Given the description of an element on the screen output the (x, y) to click on. 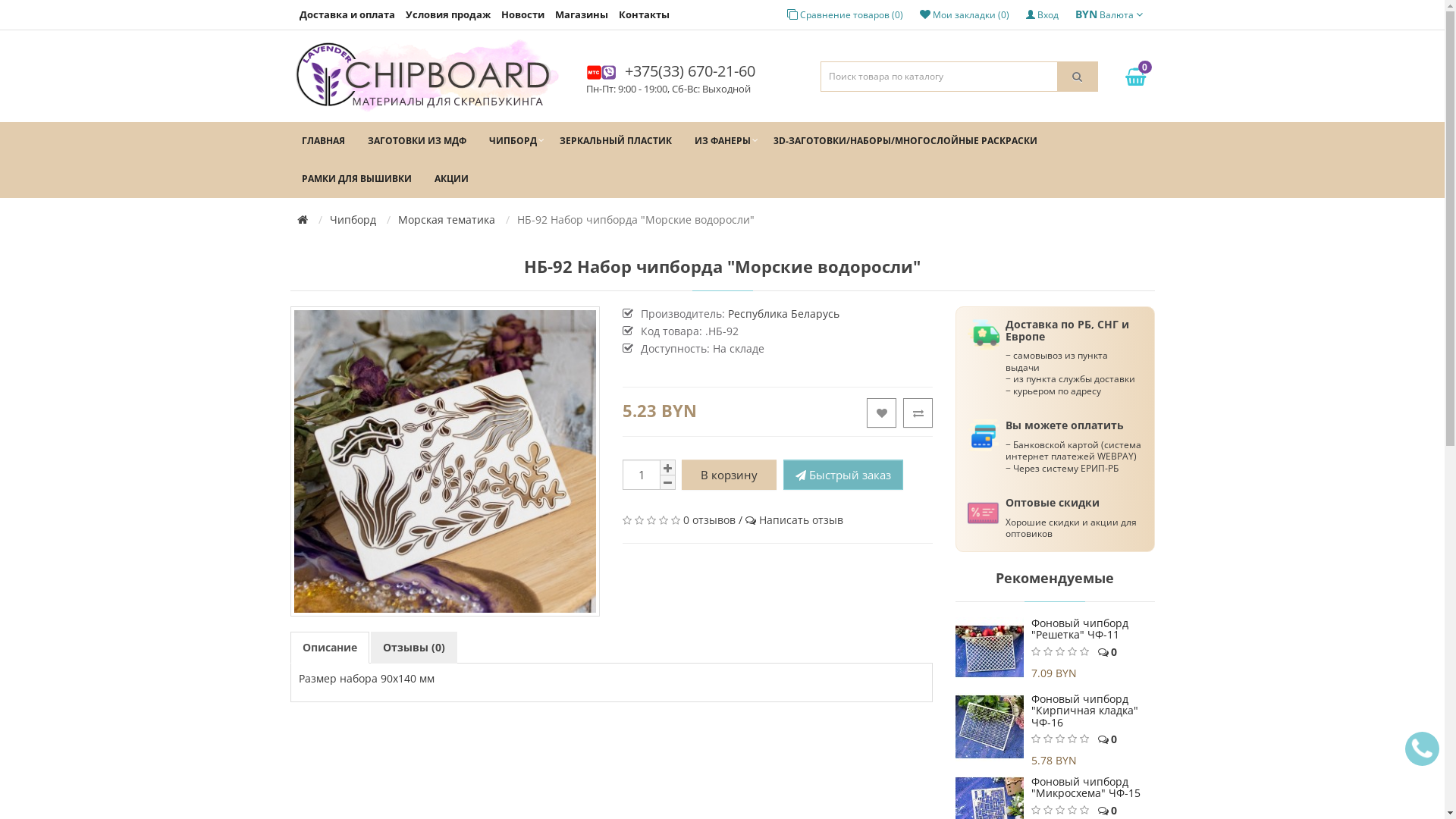
0 Element type: text (1133, 76)
+375(33) 670-21-60 Element type: text (686, 70)
